Given the description of an element on the screen output the (x, y) to click on. 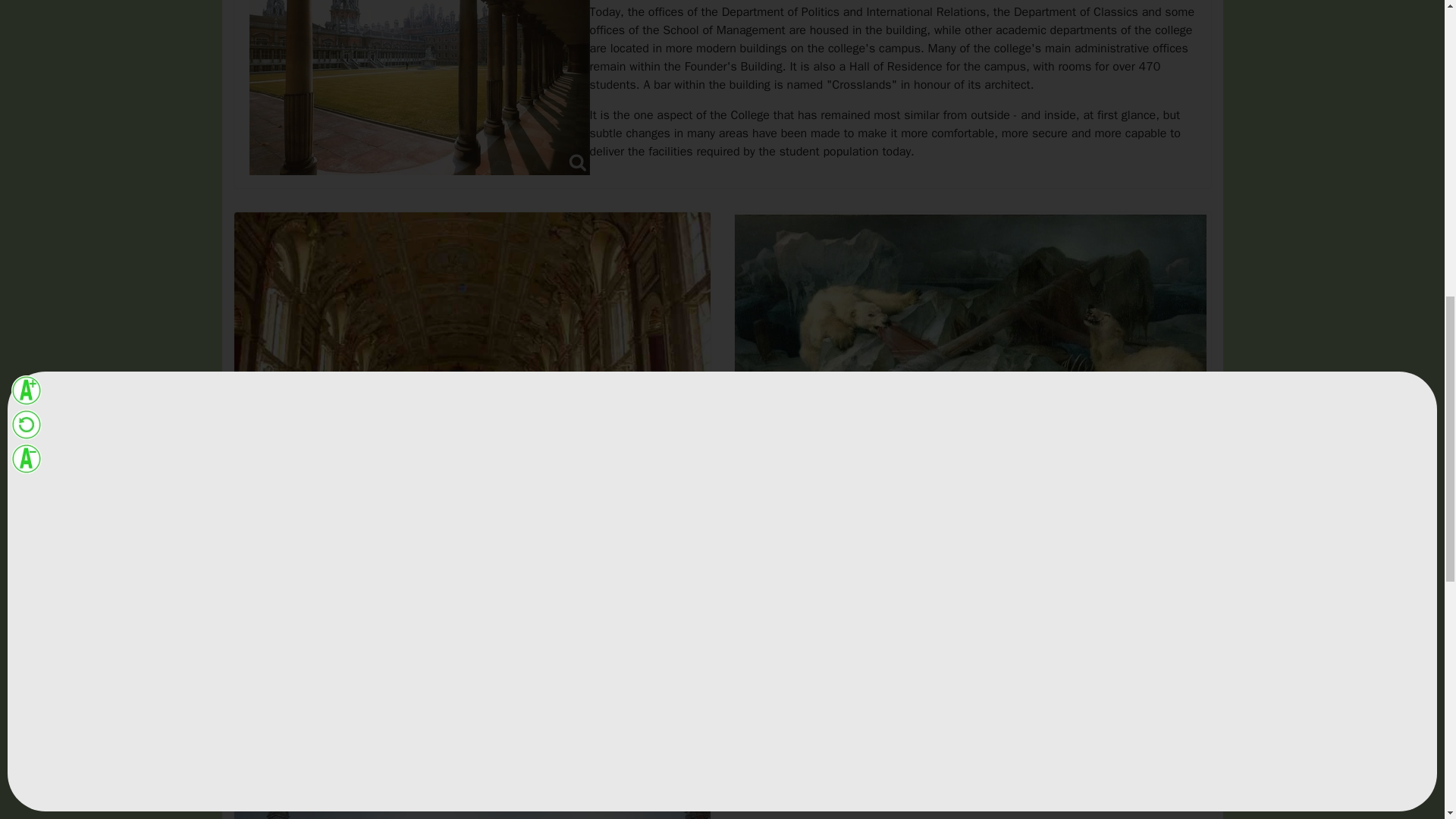
Category: Founders Building (377, 581)
Read more: Chapel (292, 736)
Category: Founders Building (877, 450)
Picture Gallery (971, 417)
Founders Building (386, 581)
Read more: Picture Gallery (810, 703)
Chapel (472, 547)
Founders Building (886, 450)
